Given the description of an element on the screen output the (x, y) to click on. 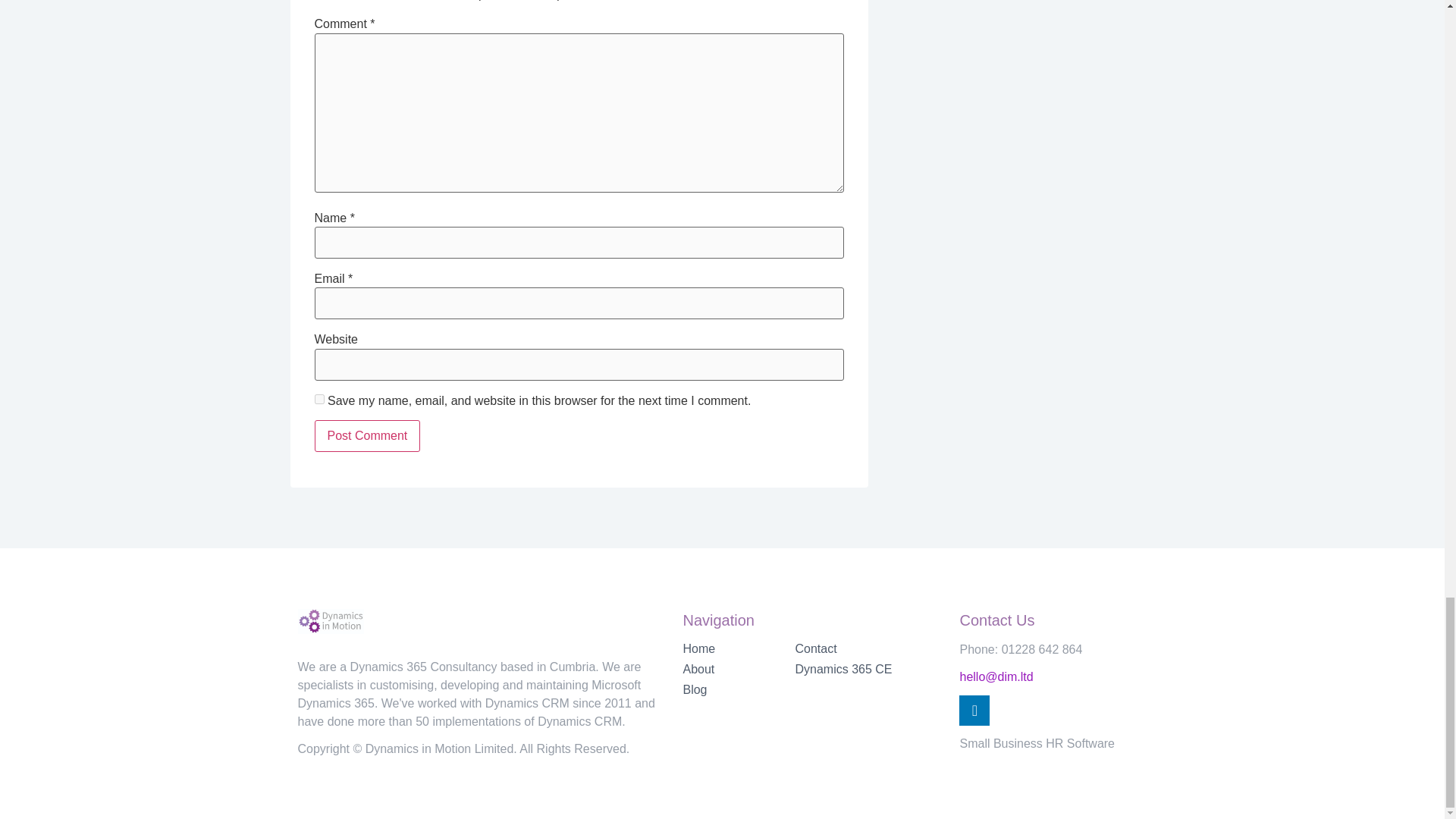
Contact (868, 648)
Home (738, 648)
yes (318, 398)
About (738, 669)
Post Comment (367, 436)
Dynamics 365 CE (868, 669)
Blog (738, 689)
Phone: 01228 642 864 (1020, 649)
Post Comment (367, 436)
